Given the description of an element on the screen output the (x, y) to click on. 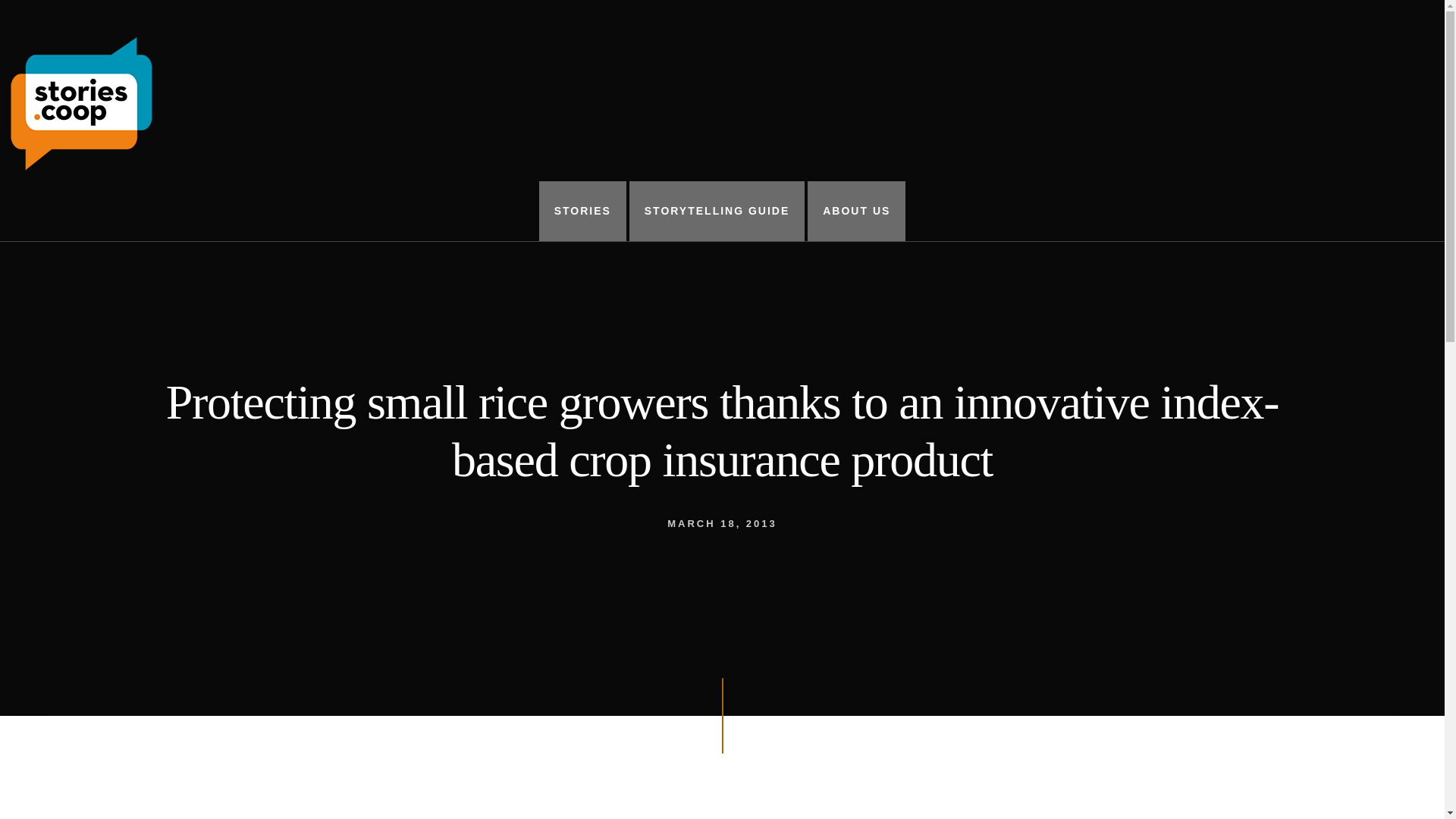
ABOUT US (856, 210)
STORIES (582, 210)
STORYTELLING GUIDE (716, 210)
